Given the description of an element on the screen output the (x, y) to click on. 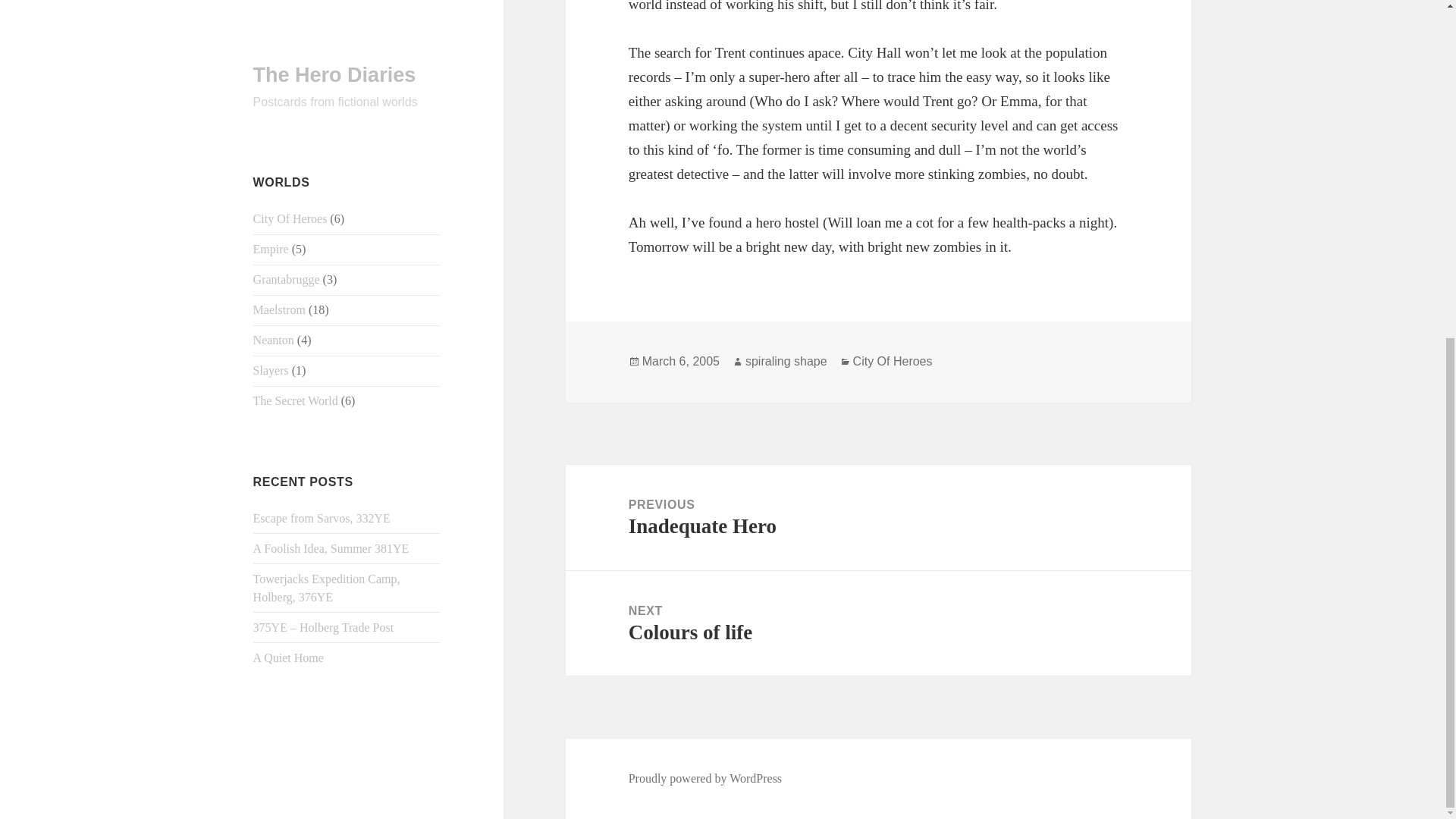
Towerjacks Expedition Camp, Holberg, 376YE (326, 18)
City Of Heroes (893, 361)
March 6, 2005 (878, 517)
Proudly powered by WordPress (680, 361)
A Quiet Home (704, 778)
spiraling shape (288, 88)
